Given the description of an element on the screen output the (x, y) to click on. 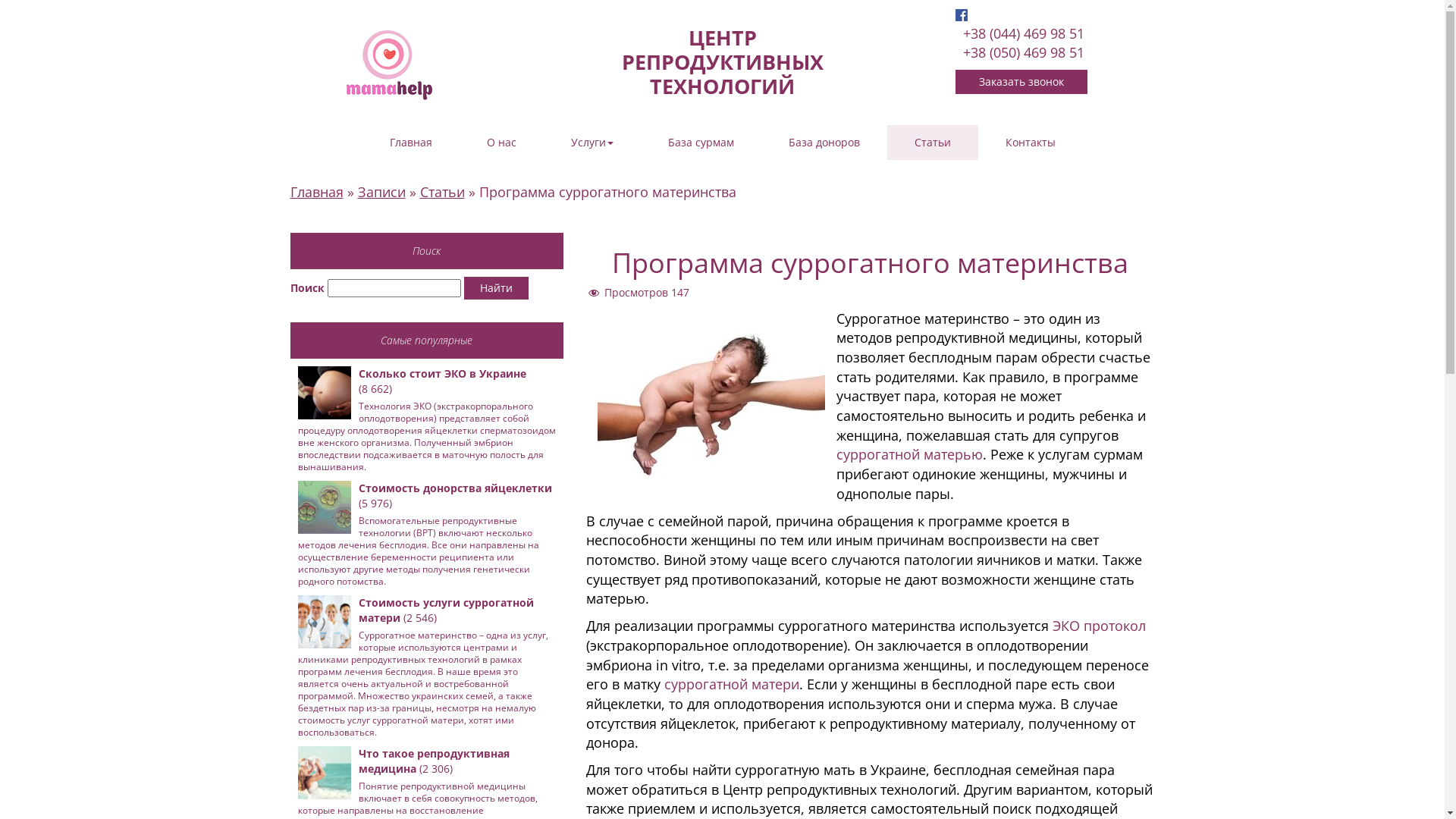
+38 (044) 469 98 51 Element type: text (1023, 33)
MamaHelp Element type: hover (389, 63)
+38 (050) 469 98 51 Element type: text (1023, 52)
MamaHelp Element type: hover (389, 65)
